Given the description of an element on the screen output the (x, y) to click on. 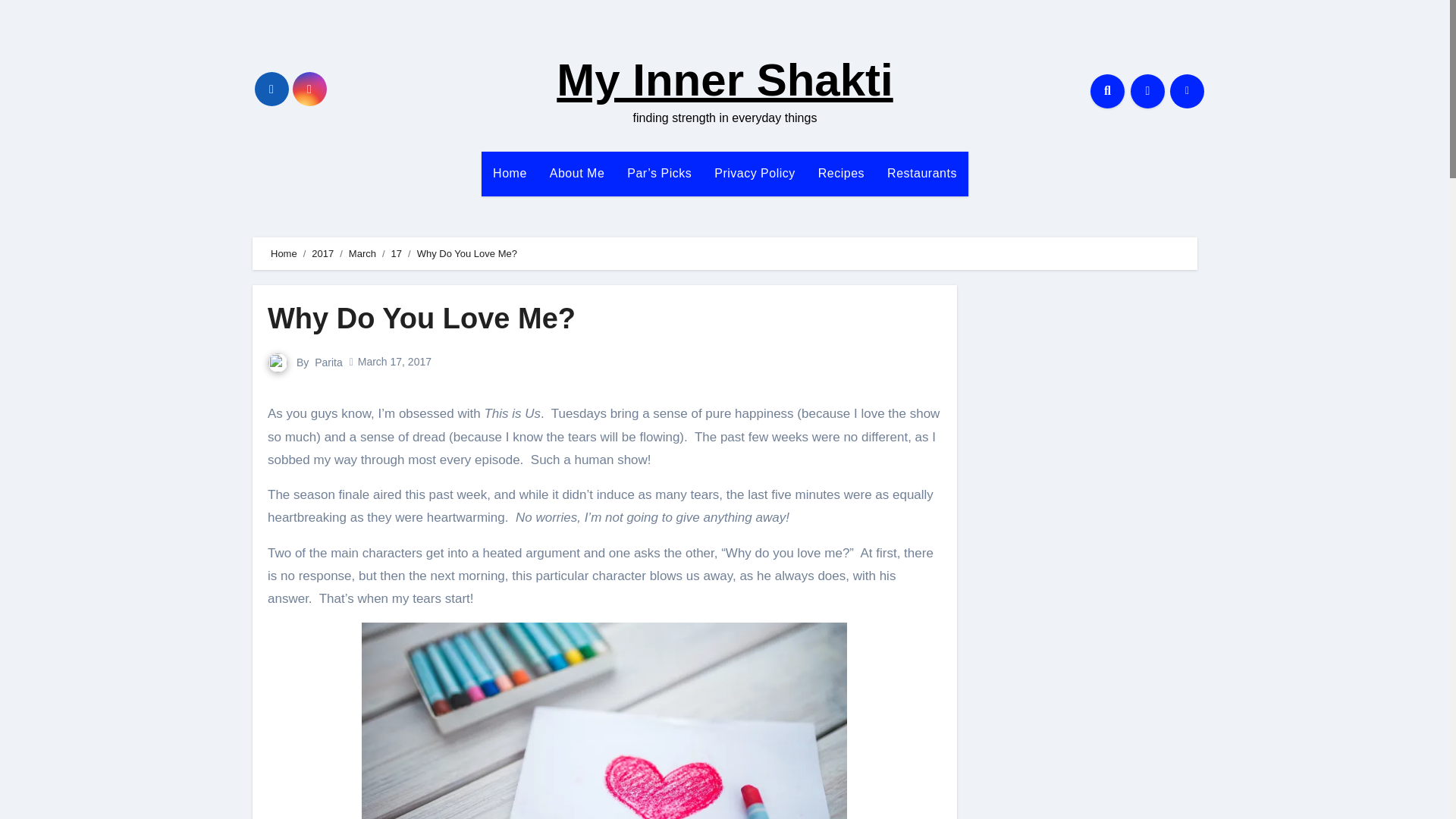
Home (509, 173)
Home (509, 173)
Home (283, 253)
Restaurants (922, 173)
March (362, 253)
March 17, 2017 (394, 361)
17 (396, 253)
Parita (328, 362)
About Me (576, 173)
2017 (322, 253)
